Given the description of an element on the screen output the (x, y) to click on. 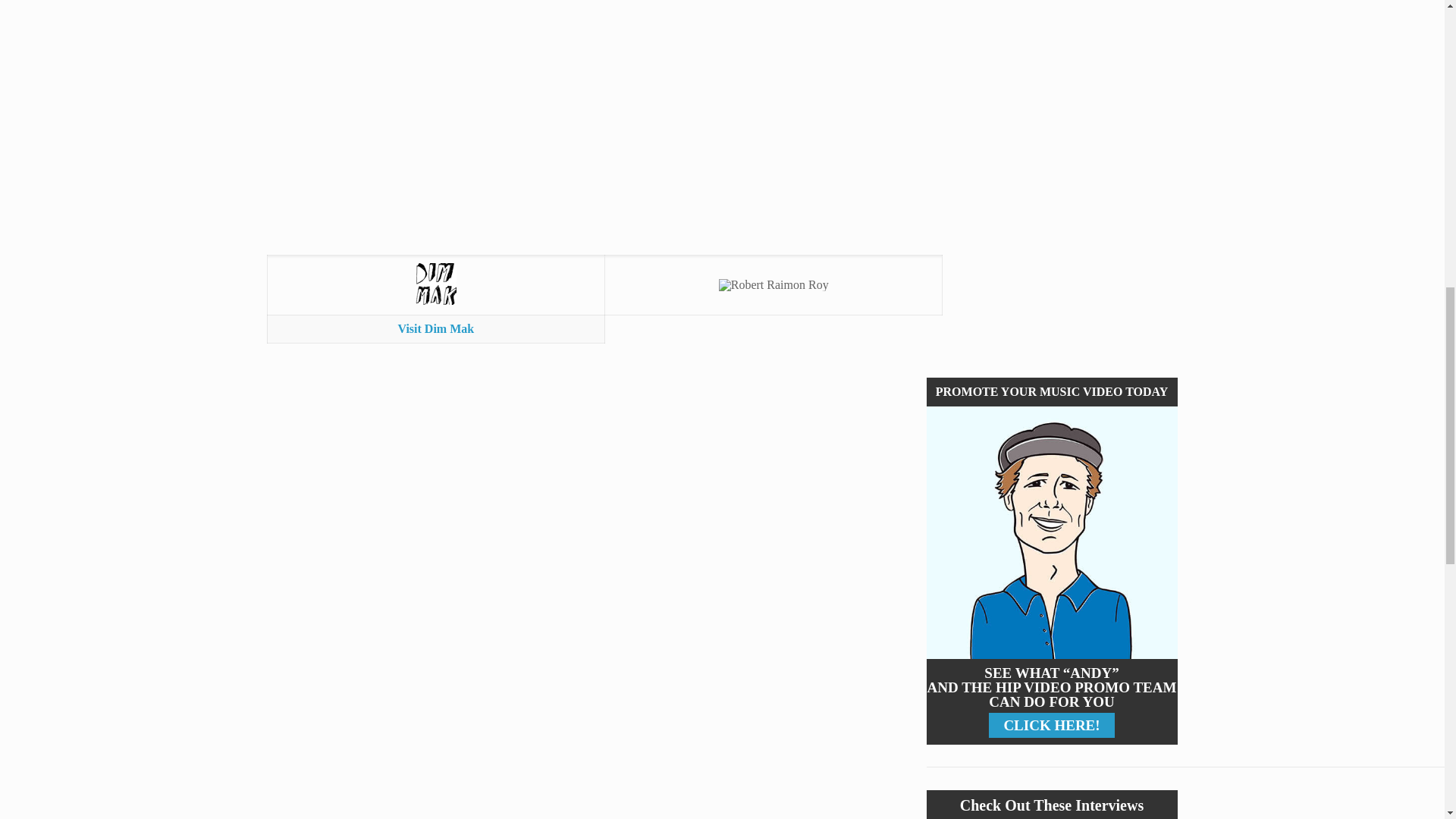
Click Here To Get Started (1051, 533)
CLICK HERE! (1051, 725)
Visit Dim Mak (435, 328)
